Given the description of an element on the screen output the (x, y) to click on. 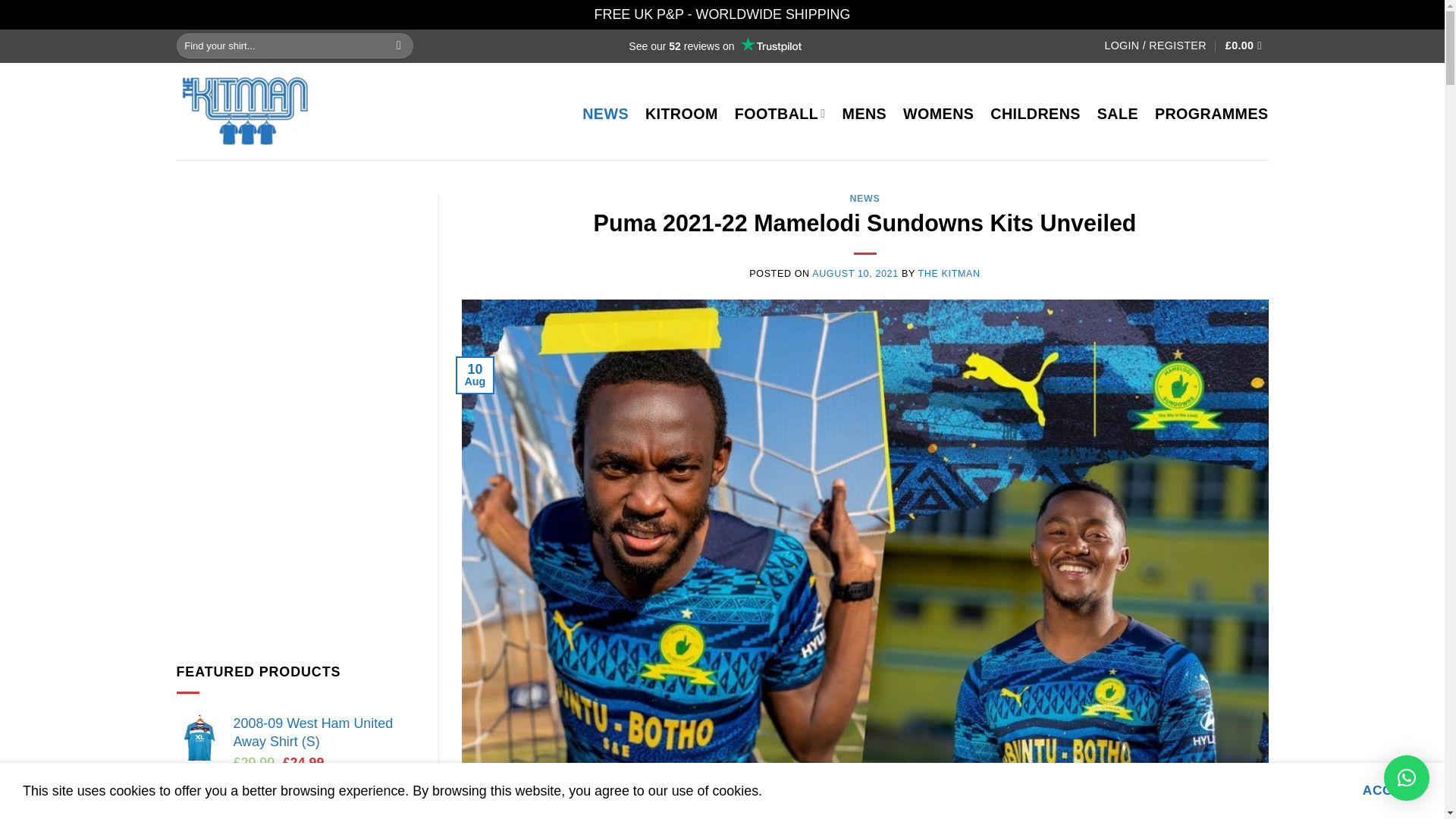
Basket (1246, 45)
Search (399, 45)
FOOTBALL (780, 113)
Advertisement (295, 538)
Customer reviews powered by Trustpilot (714, 45)
